Given the description of an element on the screen output the (x, y) to click on. 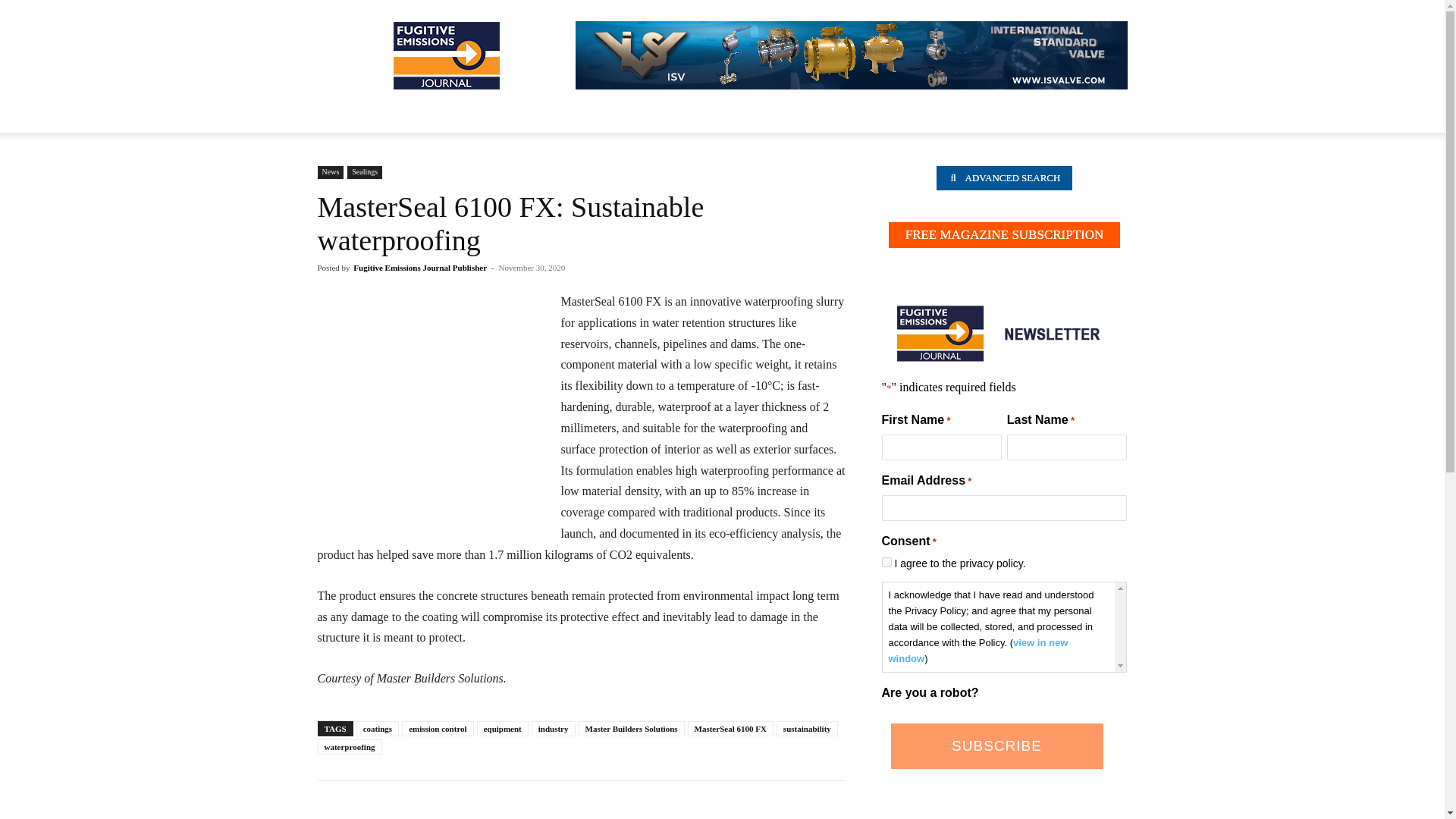
SUBSCRIBE (995, 746)
1 (885, 562)
Fugitive Emissions Journal (446, 54)
NEWS (343, 114)
